Given the description of an element on the screen output the (x, y) to click on. 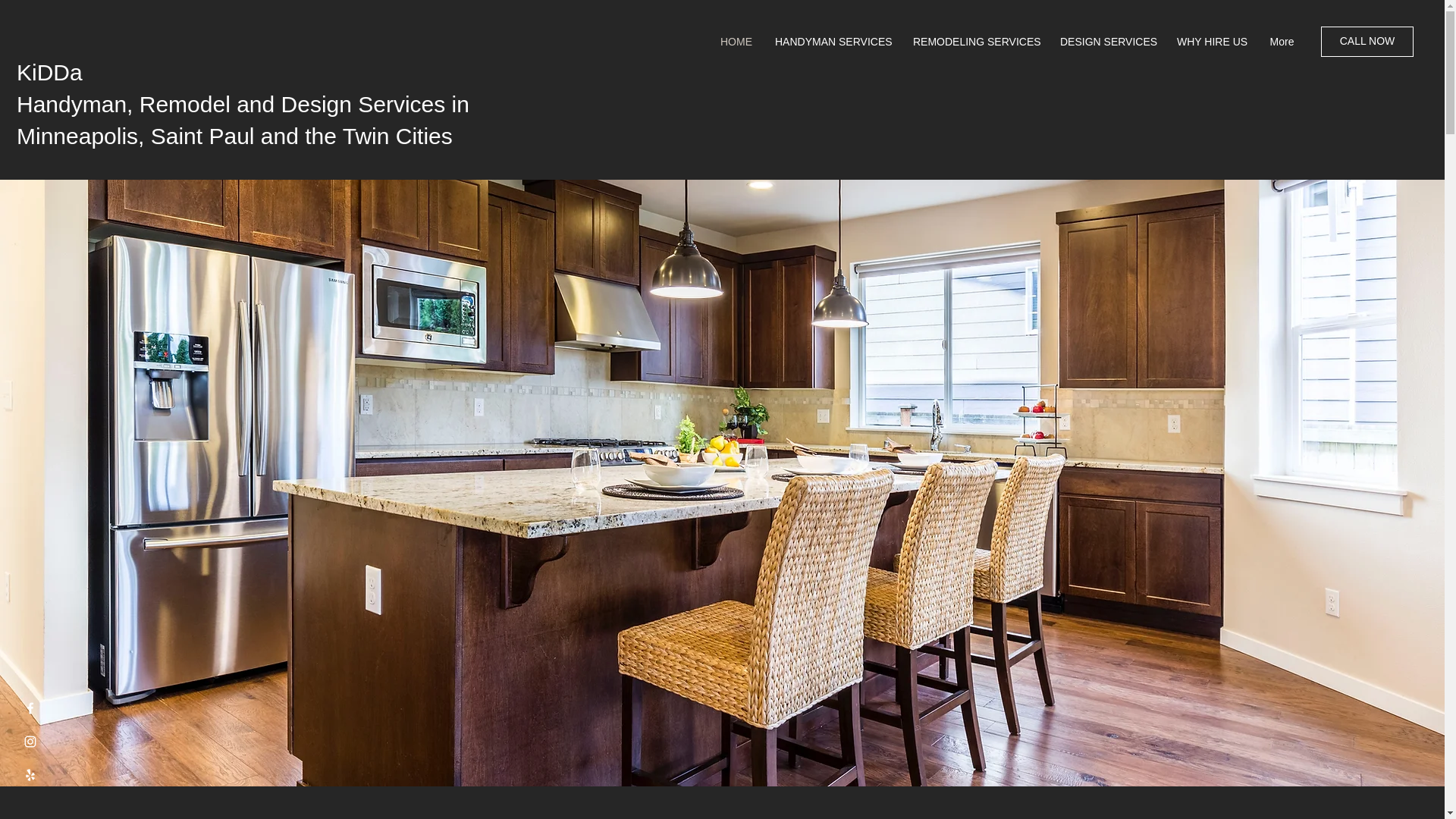
DESIGN SERVICES (1107, 41)
HOME (735, 41)
CALL NOW (1366, 41)
WHY HIRE US (1211, 41)
REMODELING SERVICES (974, 41)
HANDYMAN SERVICES (831, 41)
KiDDa (49, 72)
